Given the description of an element on the screen output the (x, y) to click on. 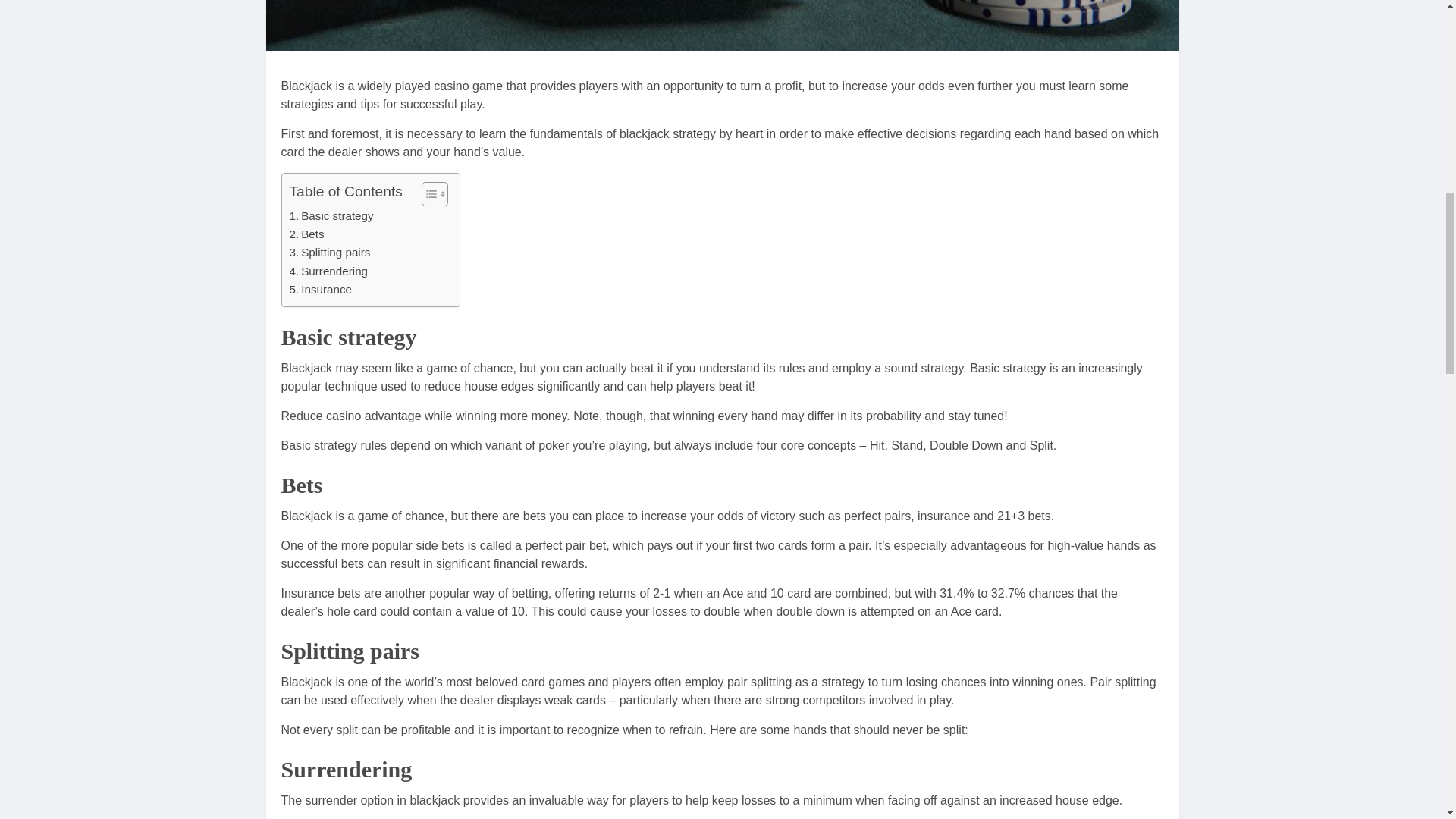
Splitting pairs (330, 252)
Surrendering (328, 271)
Insurance (320, 289)
Splitting pairs (330, 252)
Basic strategy (331, 216)
Surrendering (328, 271)
Bets (306, 234)
Bets (306, 234)
Basic strategy (331, 216)
Insurance (320, 289)
